Given the description of an element on the screen output the (x, y) to click on. 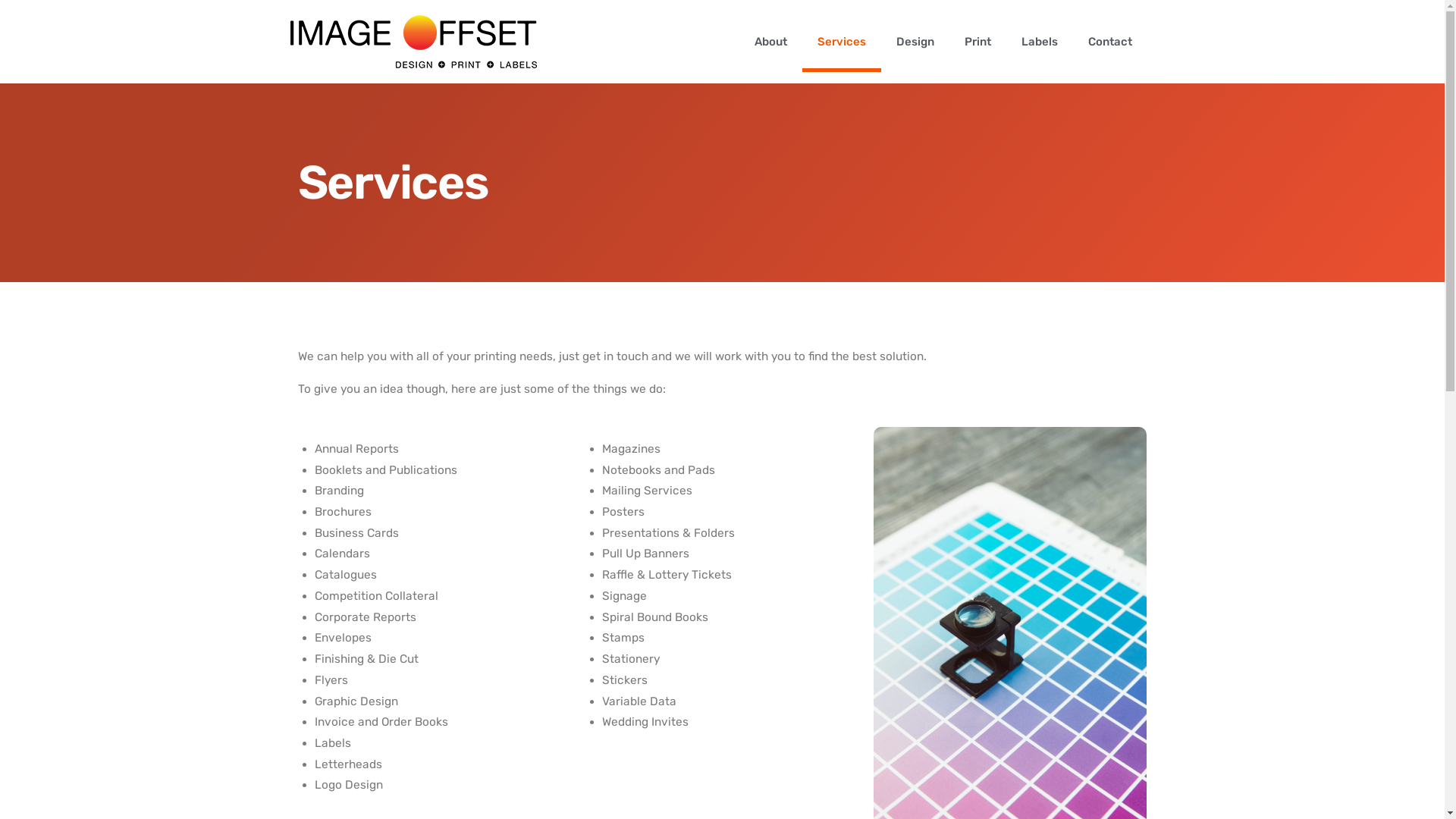
Services Element type: text (841, 41)
Print Element type: text (977, 41)
About Element type: text (769, 41)
Labels Element type: text (1038, 41)
Design Element type: text (915, 41)
Contact Element type: text (1109, 41)
